Given the description of an element on the screen output the (x, y) to click on. 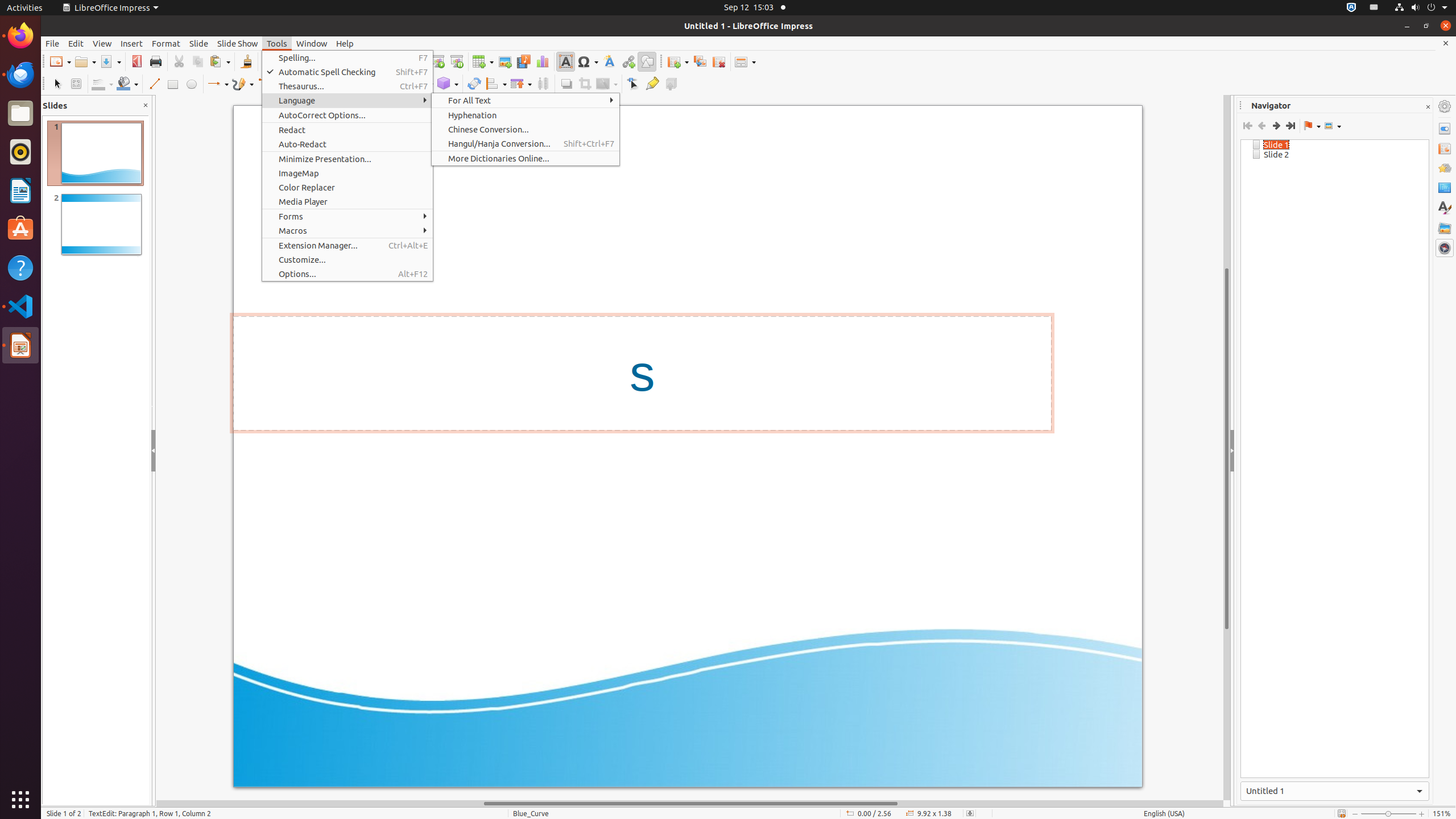
For All Text Element type: menu (525, 100)
Visual Studio Code Element type: push-button (20, 306)
Edit Element type: menu (75, 43)
Spelling... Element type: menu-item (347, 57)
Insert Element type: menu (131, 43)
